Given the description of an element on the screen output the (x, y) to click on. 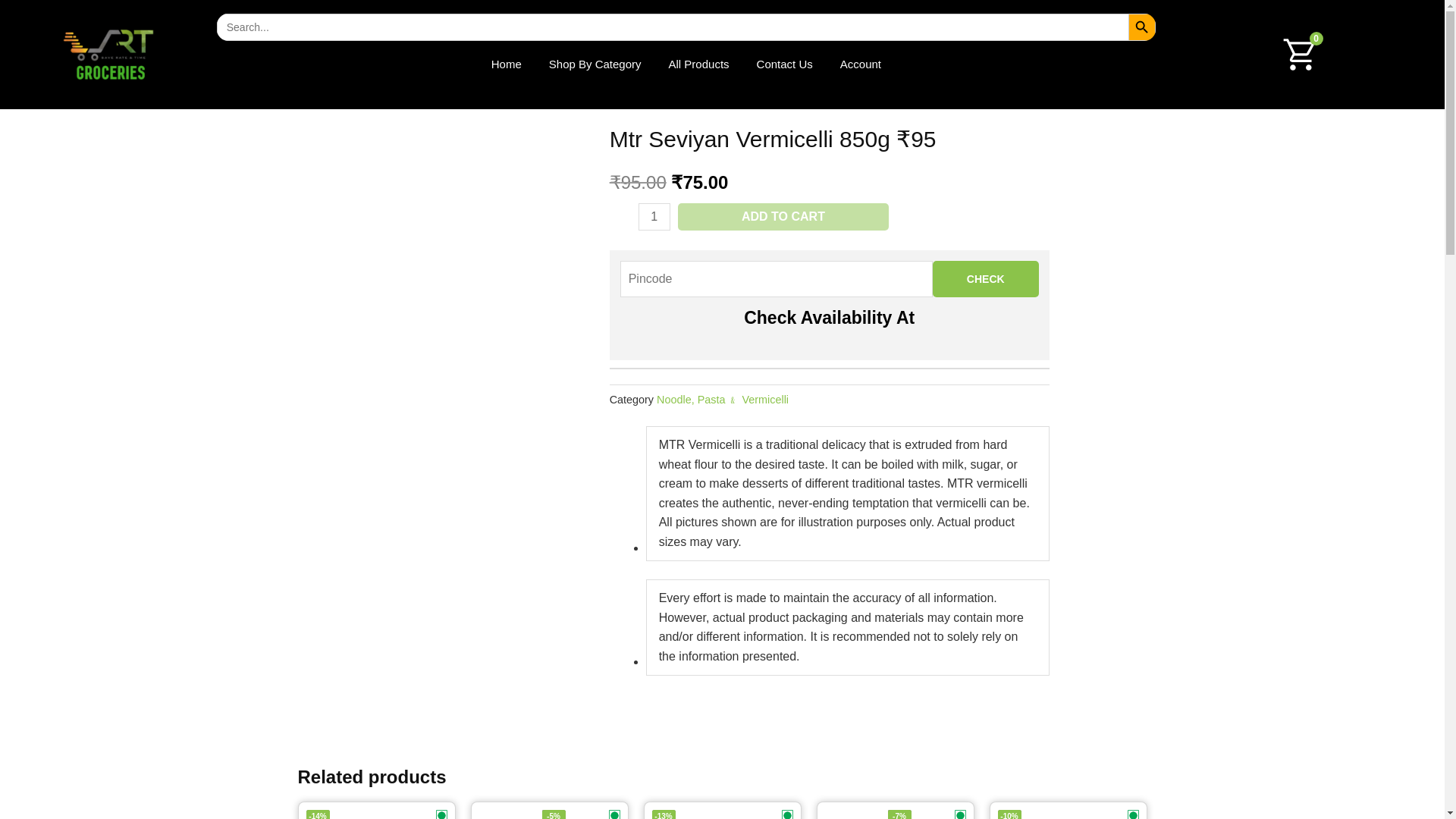
1 (654, 216)
SEARCH BUTTON (1142, 26)
Check (986, 279)
Shop By Category (595, 64)
Home (506, 64)
